Given the description of an element on the screen output the (x, y) to click on. 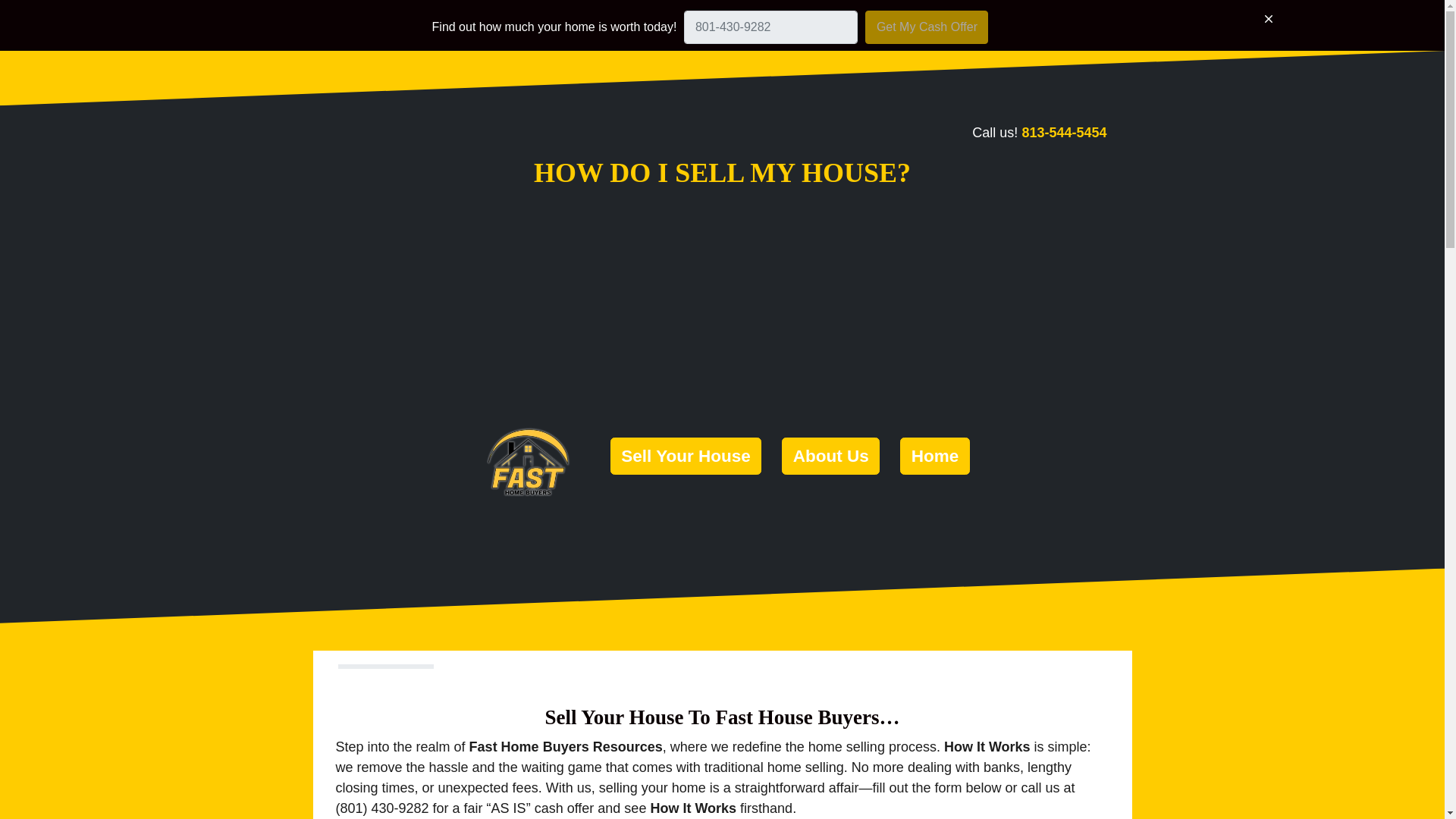
Get My Cash Offer (926, 27)
813-544-5454 (1064, 132)
About Us (830, 456)
Home (934, 456)
Get My Cash Offer (926, 27)
Sell Your House (685, 456)
